Given the description of an element on the screen output the (x, y) to click on. 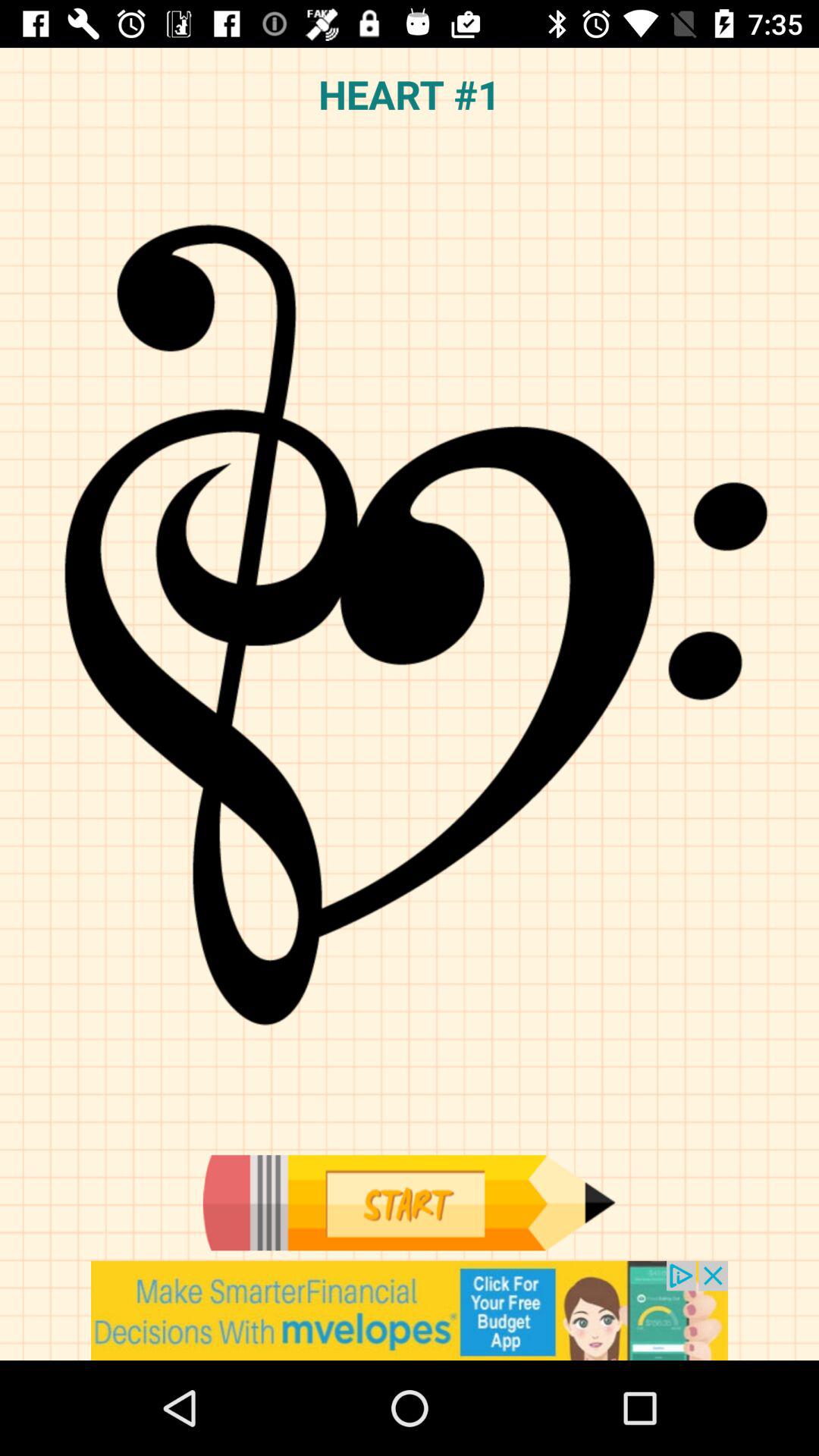
start (409, 1202)
